Given the description of an element on the screen output the (x, y) to click on. 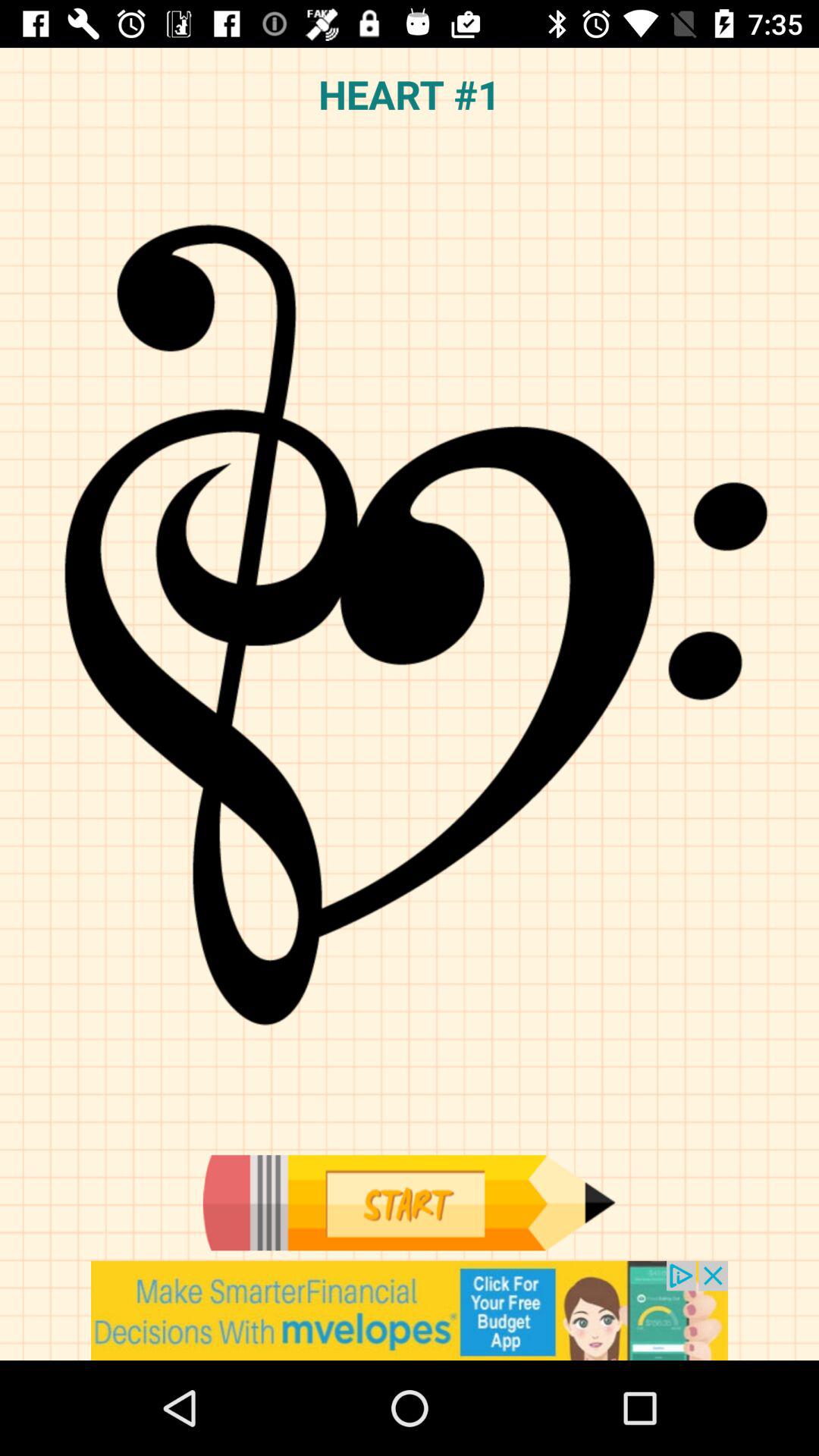
start (409, 1202)
